Given the description of an element on the screen output the (x, y) to click on. 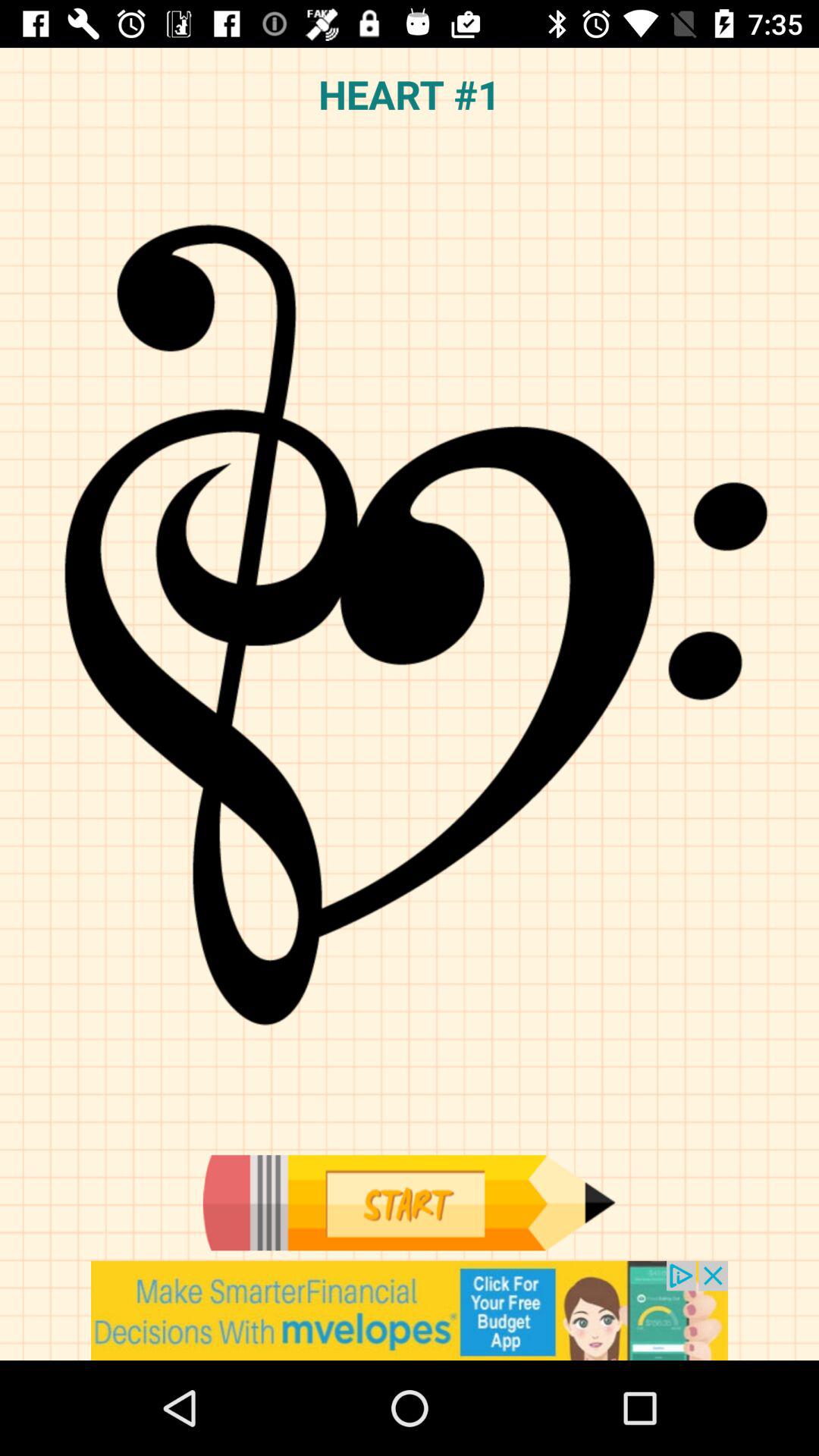
start (409, 1202)
